Given the description of an element on the screen output the (x, y) to click on. 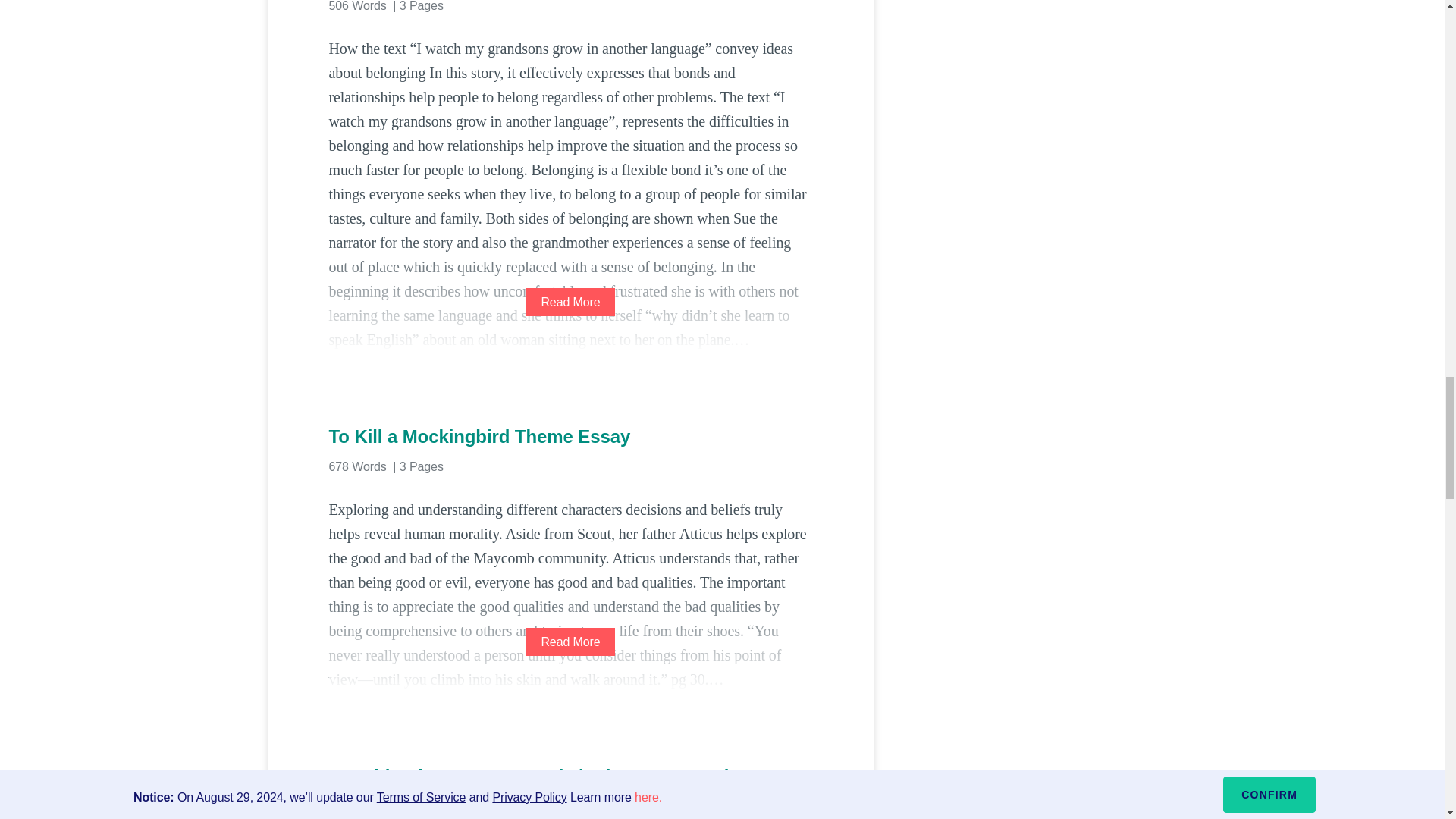
Consider the Narrator's Role in the Great Gastby (570, 776)
To Kill a Mockingbird Theme Essay (570, 436)
Read More (569, 302)
Read More (569, 642)
